Given the description of an element on the screen output the (x, y) to click on. 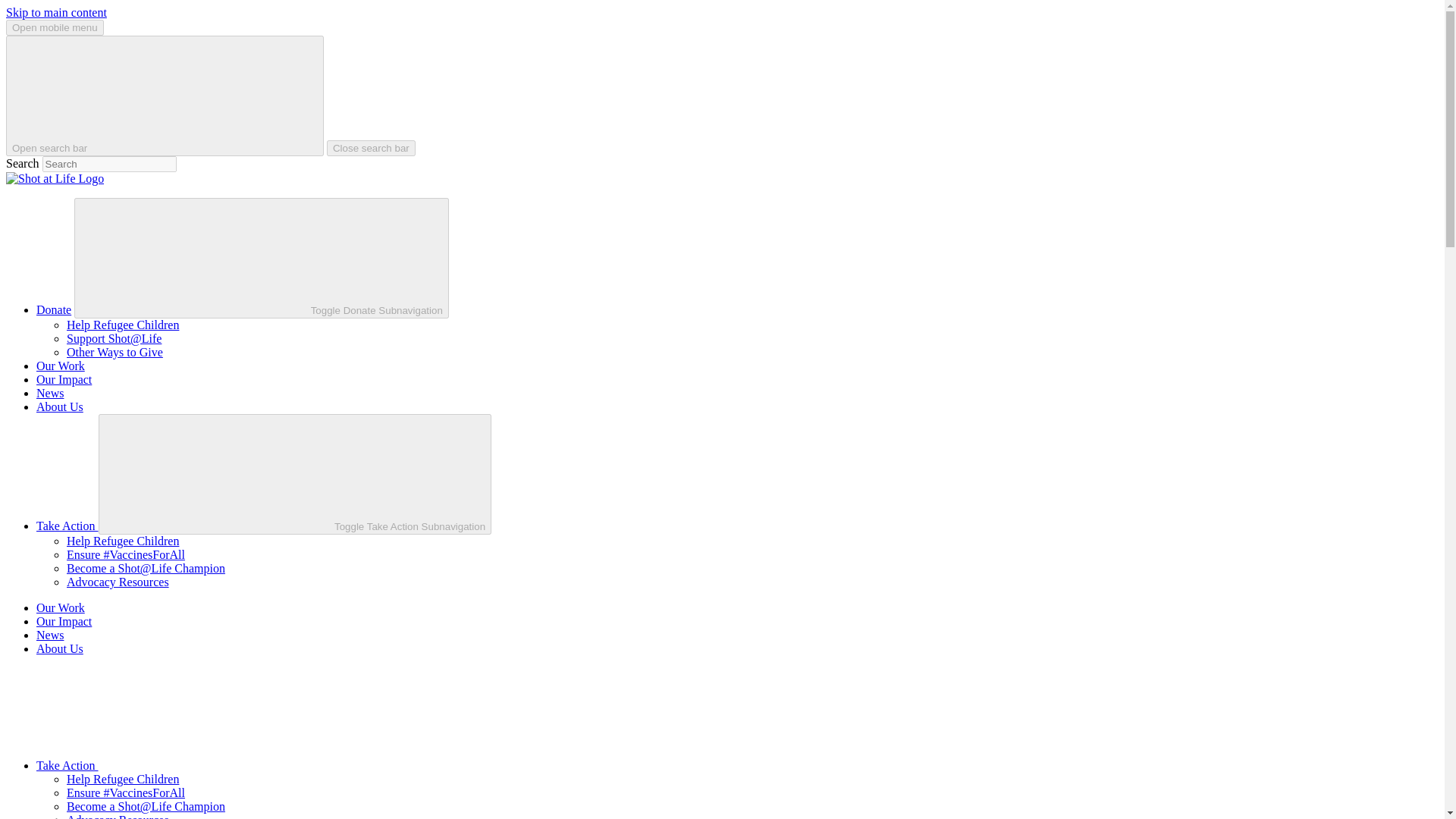
Take Action (181, 765)
Take Action (67, 525)
Donate (53, 309)
Help Refugee Children (122, 540)
Advocacy Resources (117, 816)
News (50, 634)
Our Work (60, 365)
Toggle Take Action Subnavigation (295, 474)
News (50, 392)
Other Ways to Give (114, 351)
Toggle Donate Subnavigation (261, 258)
About Us (59, 648)
Close search bar (370, 148)
Help Refugee Children (122, 324)
Open search bar (164, 96)
